Given the description of an element on the screen output the (x, y) to click on. 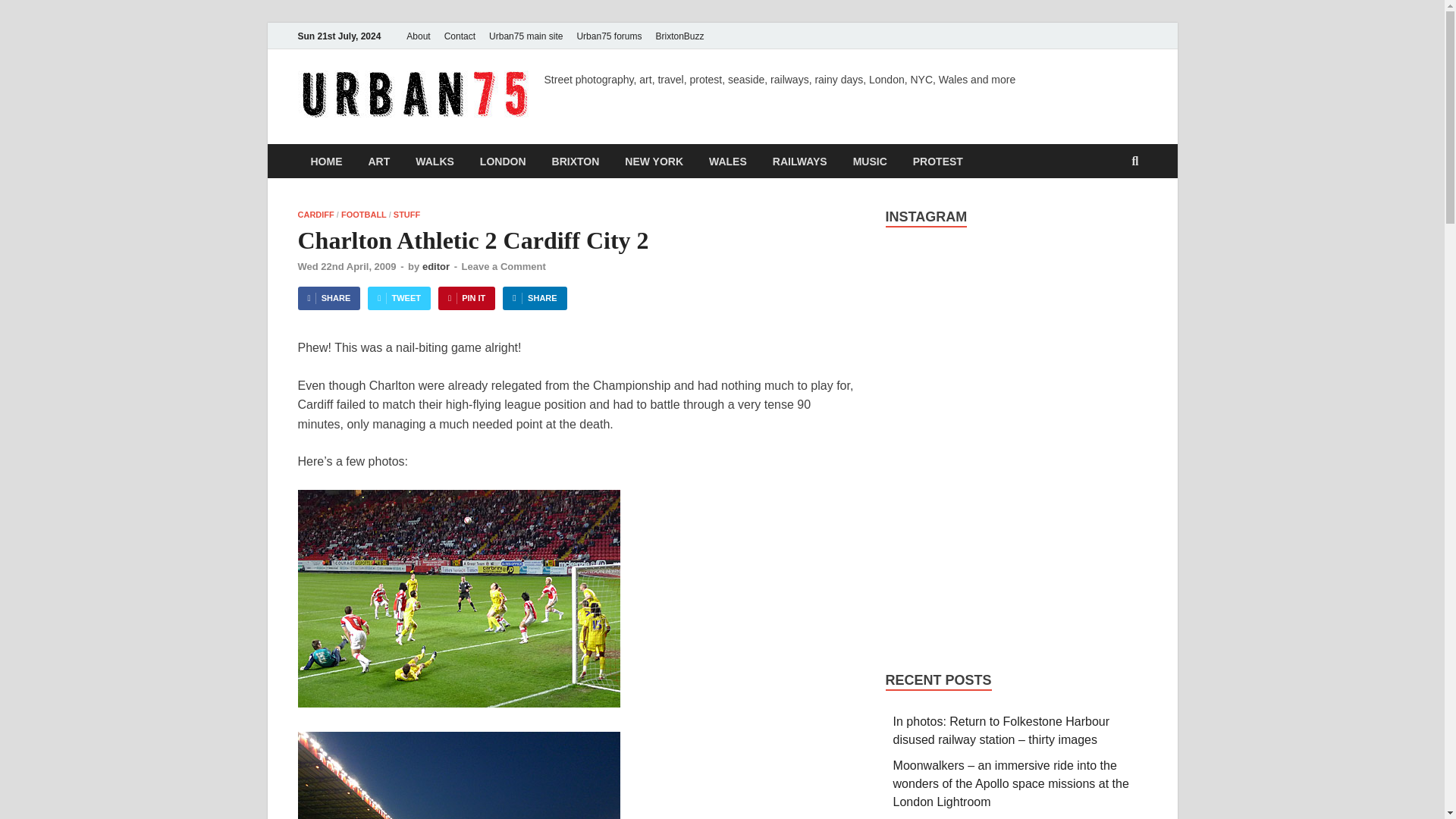
STUFF (406, 214)
Wed 22nd April, 2009 (346, 266)
Contact (459, 35)
LONDON (502, 161)
editor (435, 266)
FOOTBALL (363, 214)
Leave a Comment (503, 266)
PIN IT (466, 298)
Urban75 main site (525, 35)
HOME (326, 161)
WALKS (435, 161)
MUSIC (869, 161)
RAILWAYS (800, 161)
SHARE (534, 298)
ART (379, 161)
